Given the description of an element on the screen output the (x, y) to click on. 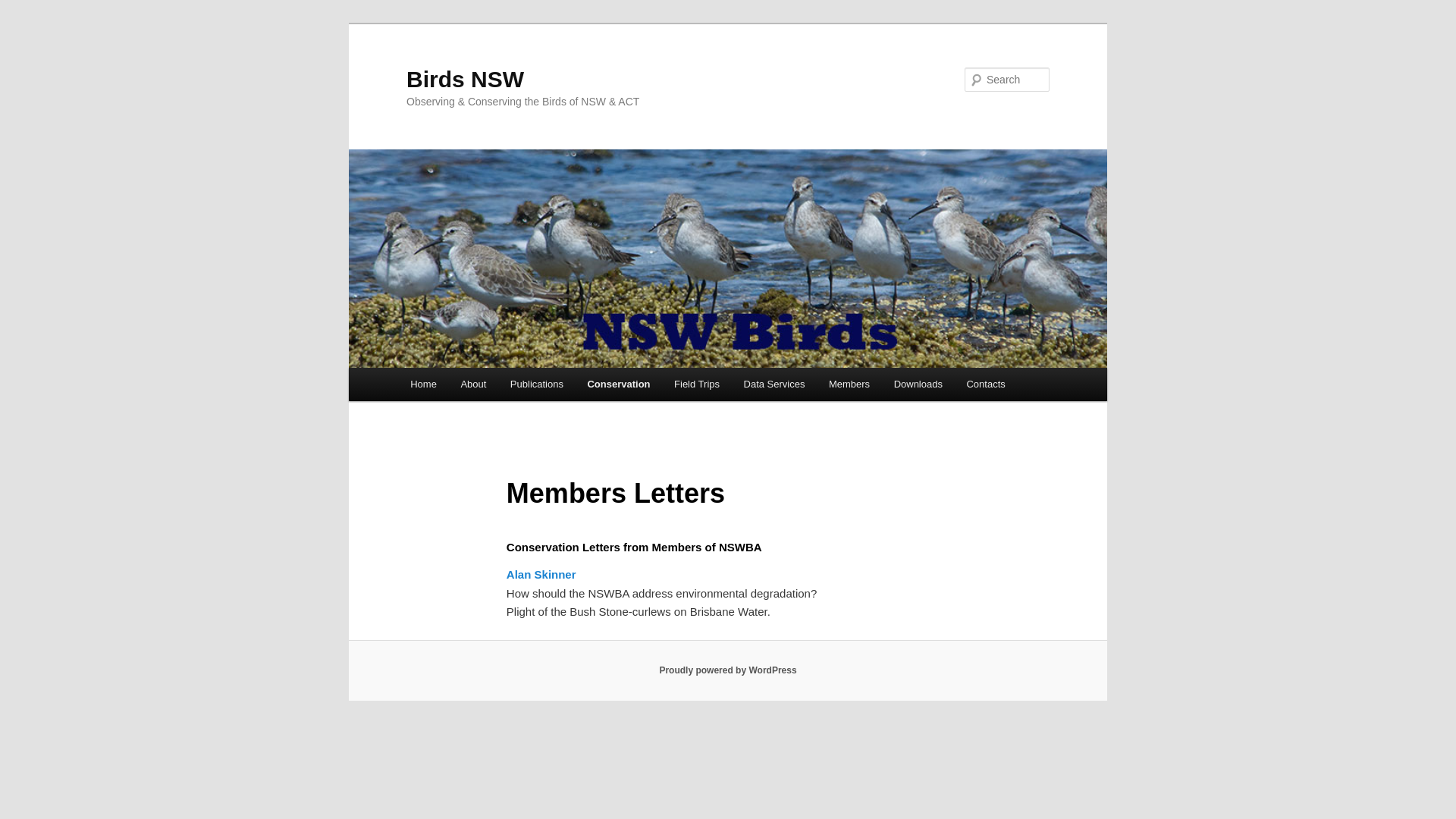
Downloads Element type: text (917, 383)
Birds NSW Element type: text (465, 78)
Conservation Element type: text (618, 383)
Members Element type: text (848, 383)
Home Element type: text (423, 383)
Proudly powered by WordPress Element type: text (727, 670)
Contacts Element type: text (985, 383)
Alan Skinner Element type: text (541, 573)
Data Services Element type: text (773, 383)
Publications Element type: text (536, 383)
About Element type: text (473, 383)
Search Element type: text (24, 8)
Skip to primary content Element type: text (22, 22)
Field Trips Element type: text (696, 383)
